Given the description of an element on the screen output the (x, y) to click on. 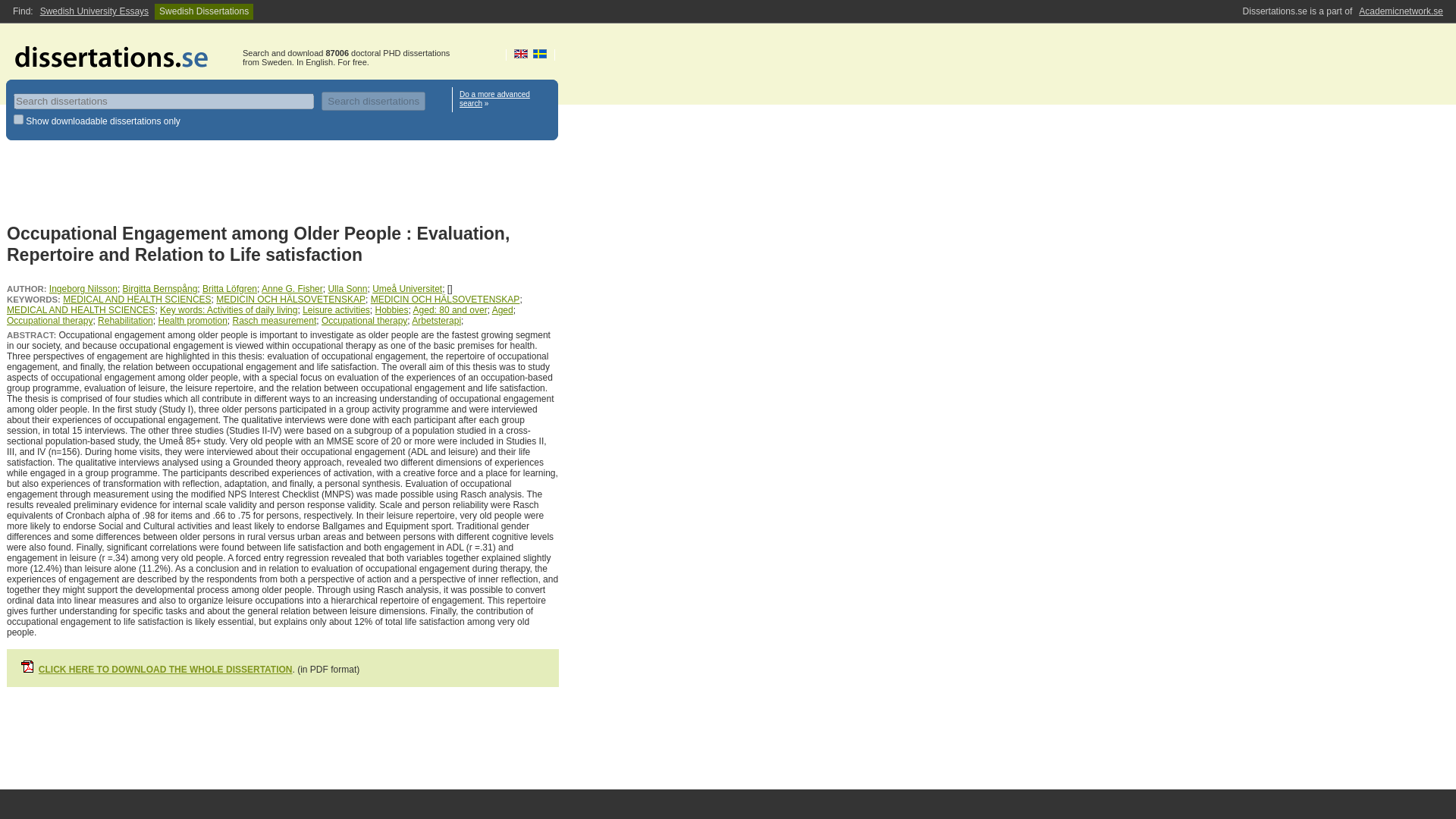
language: Swedish (539, 53)
Swedish Dissertations (203, 11)
Anne G. Fisher (292, 288)
Occupational therapy (50, 320)
Ulla Sonn (346, 288)
Occupational therapy (364, 320)
Rehabilitation (124, 320)
Hobbies (392, 309)
y (18, 119)
Aged: 80 and over (450, 309)
MEDICAL AND HEALTH SCIENCES (80, 309)
Leisure activities (335, 309)
Ingeborg Nilsson (83, 288)
Swedish University Essays (93, 11)
Aged (502, 309)
